Given the description of an element on the screen output the (x, y) to click on. 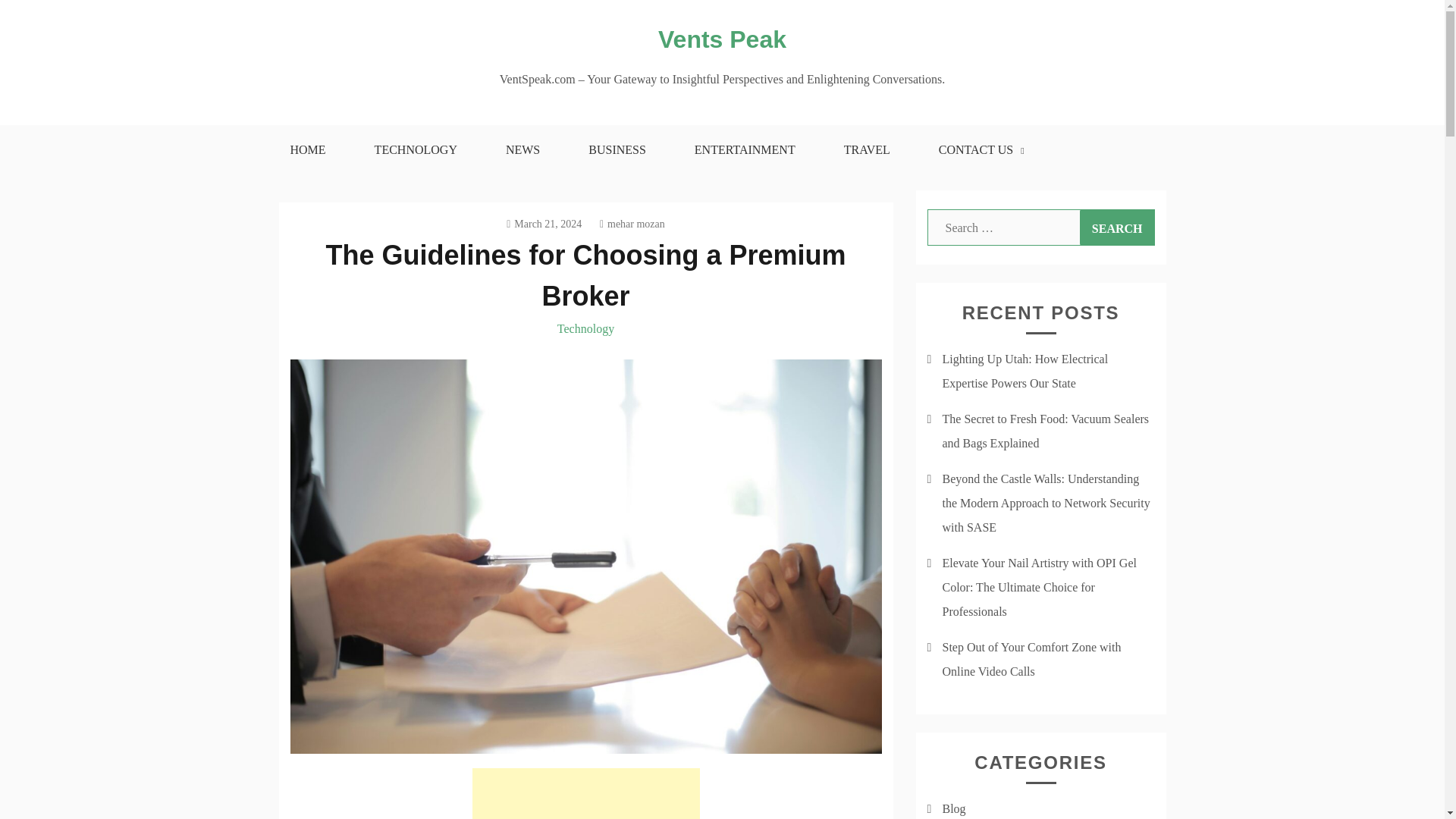
Lighting Up Utah: How Electrical Expertise Powers Our State (1025, 370)
March 21, 2024 (543, 224)
The Secret to Fresh Food: Vacuum Sealers and Bags Explained (1045, 430)
NEWS (522, 150)
Search (1117, 227)
Technology (585, 328)
mehar mozan (632, 224)
Step Out of Your Comfort Zone with Online Video Calls (1031, 659)
Search (1117, 227)
ENTERTAINMENT (744, 150)
Vents Peak (722, 39)
HOME (306, 150)
Advertisement (584, 793)
